Given the description of an element on the screen output the (x, y) to click on. 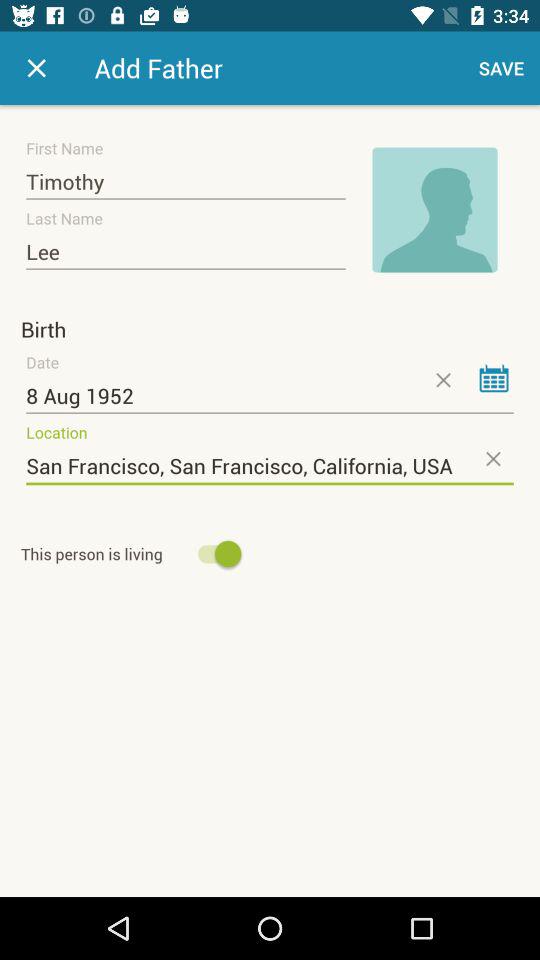
erase location text (492, 458)
